Given the description of an element on the screen output the (x, y) to click on. 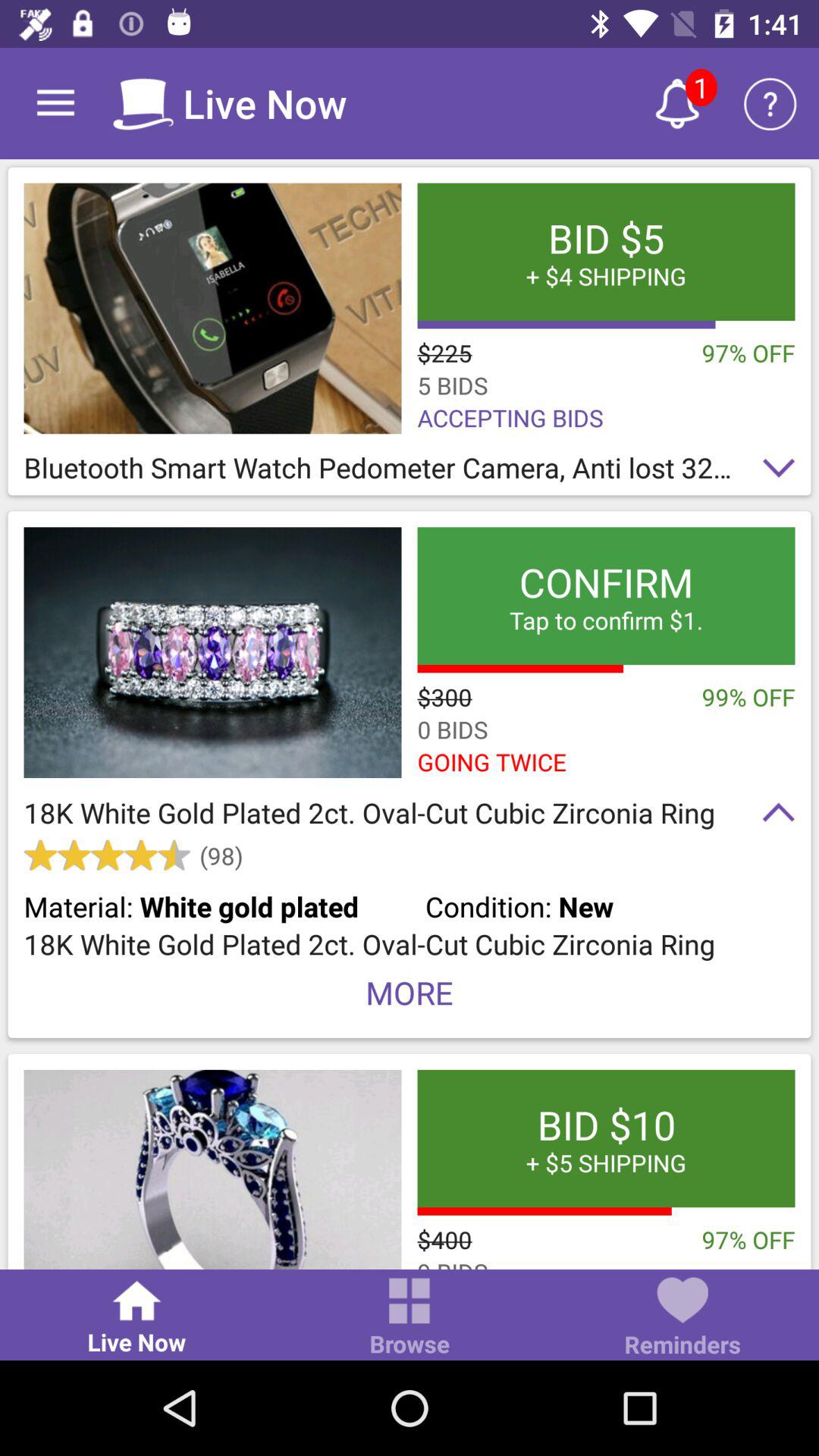
tap reminders item (682, 1318)
